Given the description of an element on the screen output the (x, y) to click on. 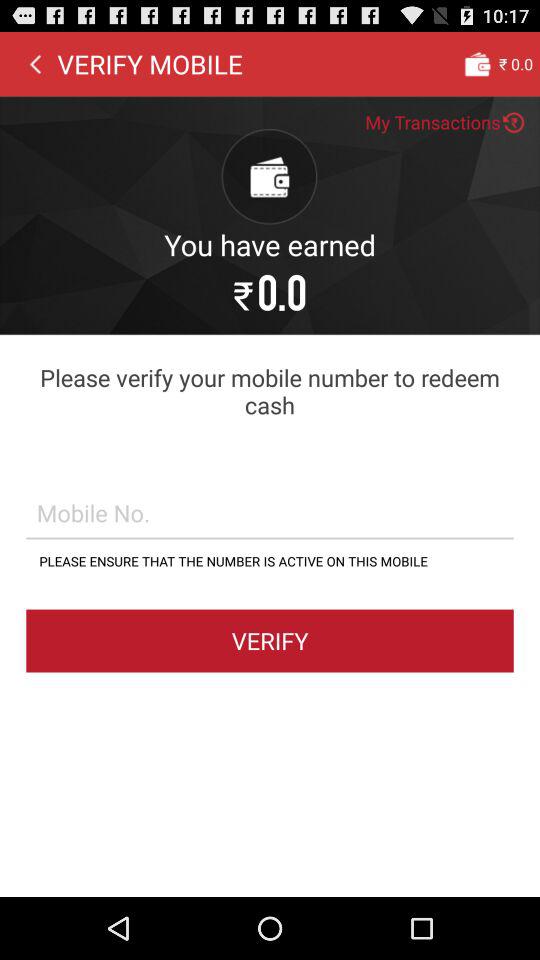
click on the button which is next to my transactions (514, 122)
click on mobile no field (269, 511)
click on the button having the text verify (269, 640)
